Given the description of an element on the screen output the (x, y) to click on. 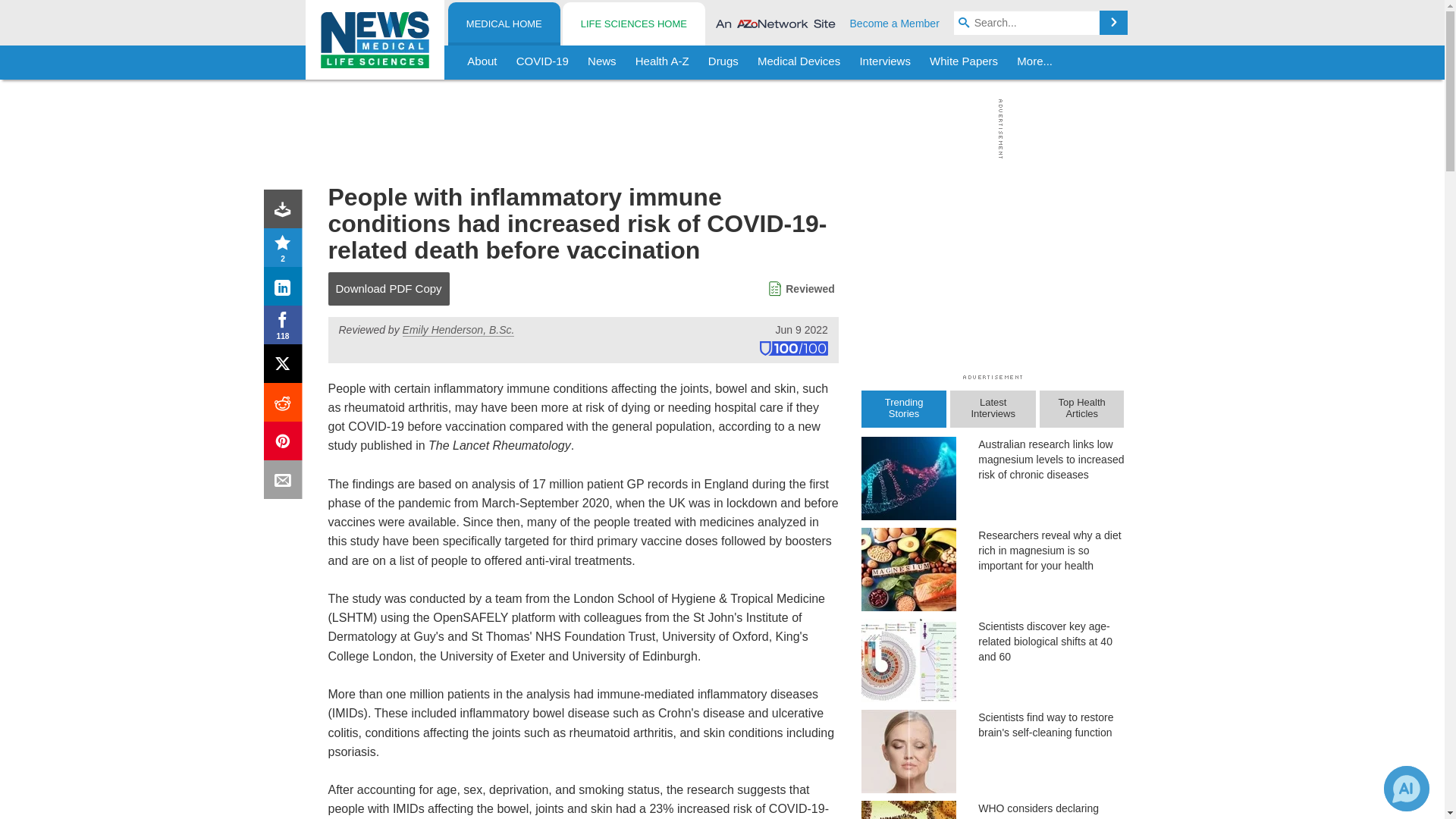
White Papers (963, 62)
Become a Member (894, 22)
Download PDF copy (285, 212)
Health A-Z (662, 62)
COVID-19 (542, 62)
Reddit (285, 405)
News (601, 62)
Email (285, 483)
Search (1112, 22)
Facebook (285, 328)
